Given the description of an element on the screen output the (x, y) to click on. 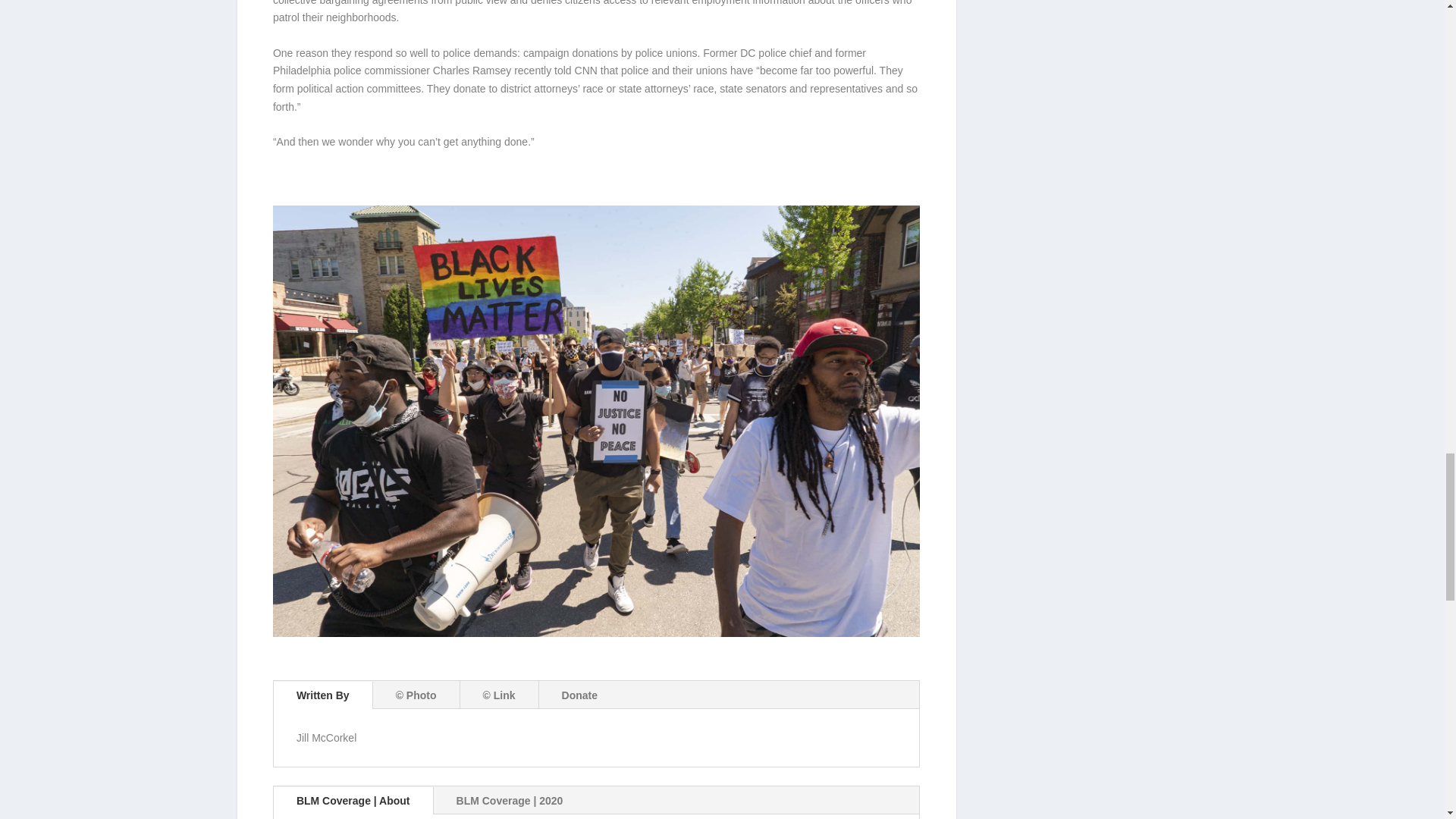
Written By (323, 695)
Donate (579, 695)
Jill McCorkel (326, 737)
